Given the description of an element on the screen output the (x, y) to click on. 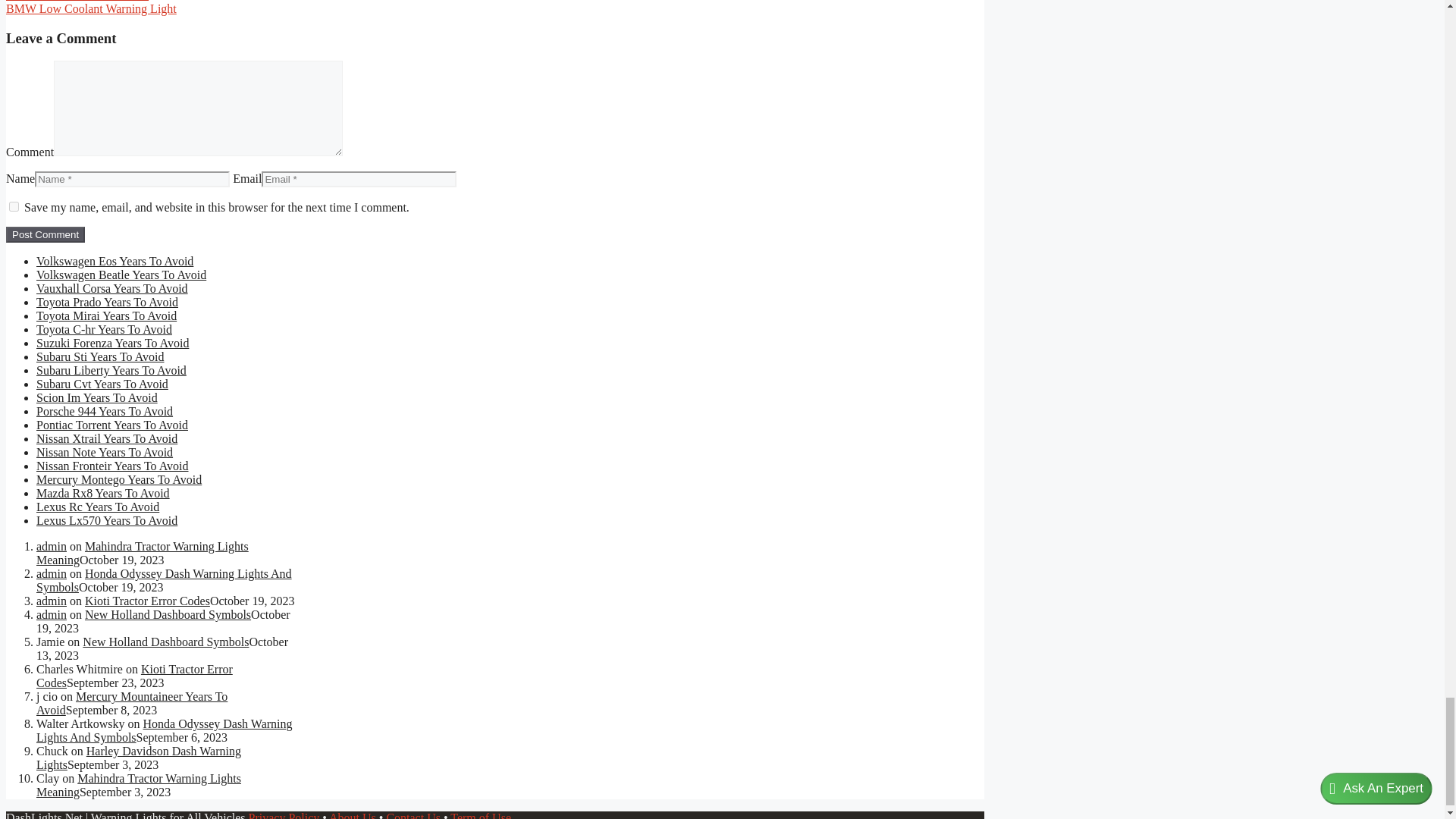
BMW Low Coolant Warning Light (90, 8)
Toyota Prado Years To Avoid (106, 301)
Volkswagen Eos Years To Avoid (114, 260)
Volkswagen Beatle Years To Avoid (121, 274)
What Year Ford 5.4 To Avoid (76, 0)
yes (13, 206)
Post Comment (44, 234)
Previous (76, 0)
Post Comment (44, 234)
Vauxhall Corsa Years To Avoid (111, 287)
